Given the description of an element on the screen output the (x, y) to click on. 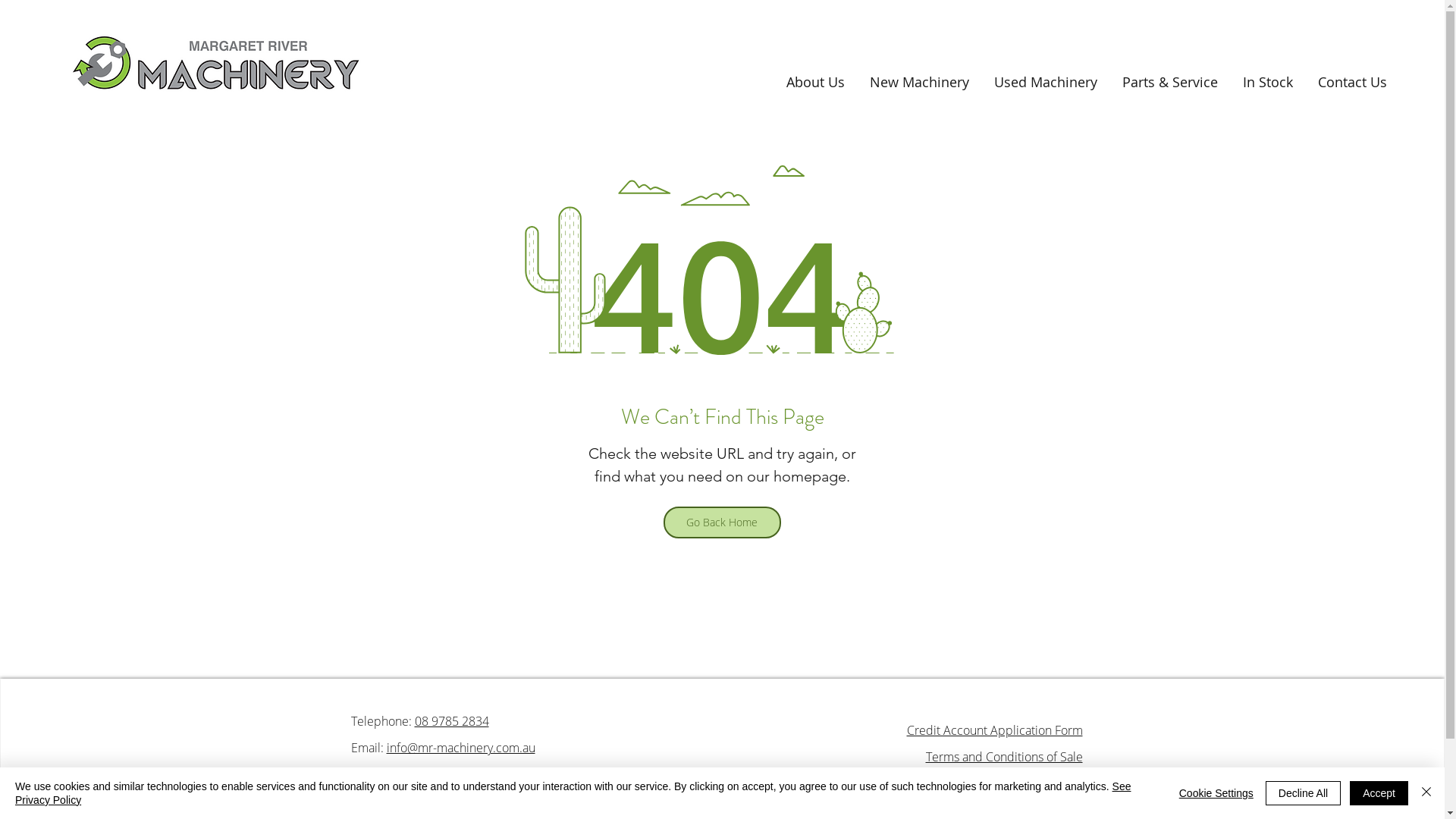
Accept Element type: text (1378, 793)
Credit Account Application Form Element type: text (994, 729)
Go Back Home Element type: text (721, 522)
Used Machinery Element type: text (1040, 81)
In Stock Element type: text (1262, 81)
Decline All Element type: text (1302, 793)
About Us Element type: text (810, 81)
See Privacy Policy Element type: text (572, 793)
08 9785 2834 Element type: text (451, 720)
info@mr-machinery.com.au Element type: text (460, 747)
Terms and Conditions of Sale Element type: text (1003, 756)
New Machinery Element type: text (914, 81)
Parts & Service Element type: text (1164, 81)
Privacy Policy Element type: text (1046, 783)
Contact Us Element type: text (1347, 81)
